Given the description of an element on the screen output the (x, y) to click on. 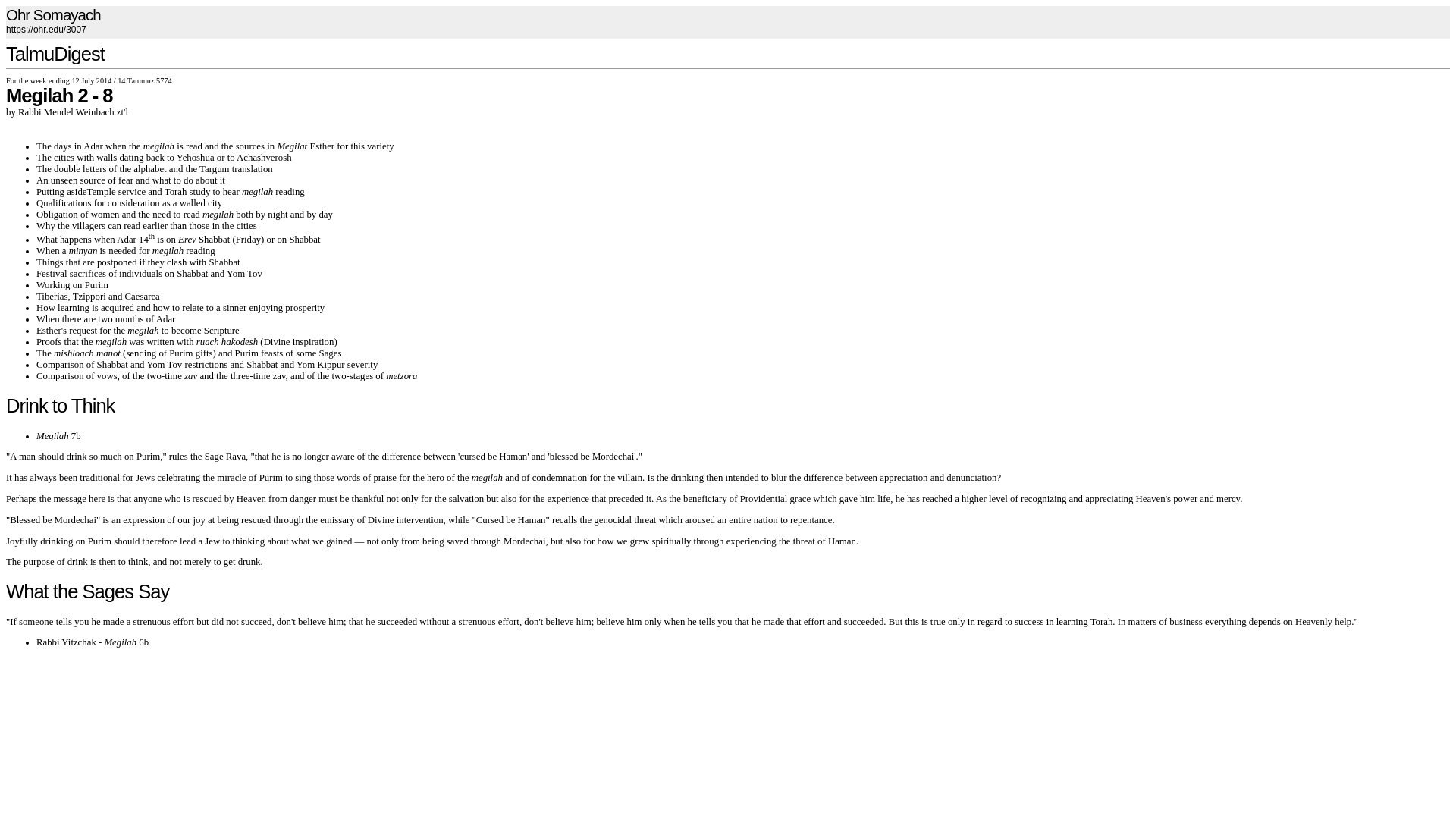
TalmuDigest (54, 53)
